Given the description of an element on the screen output the (x, y) to click on. 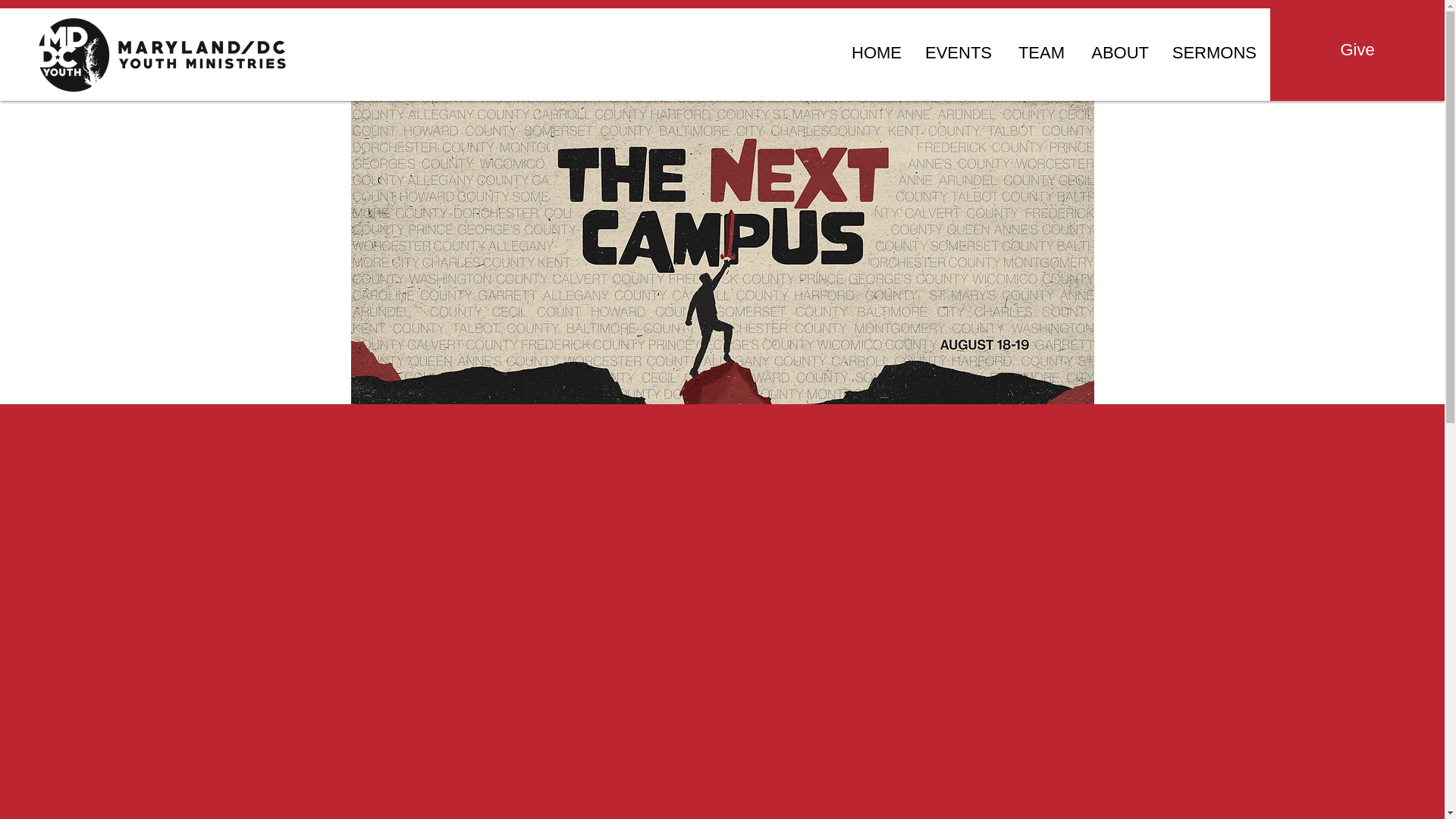
EVENTS (957, 52)
TEAM (1039, 52)
HOME (873, 52)
ABOUT (1117, 52)
SERMONS (1214, 52)
